Given the description of an element on the screen output the (x, y) to click on. 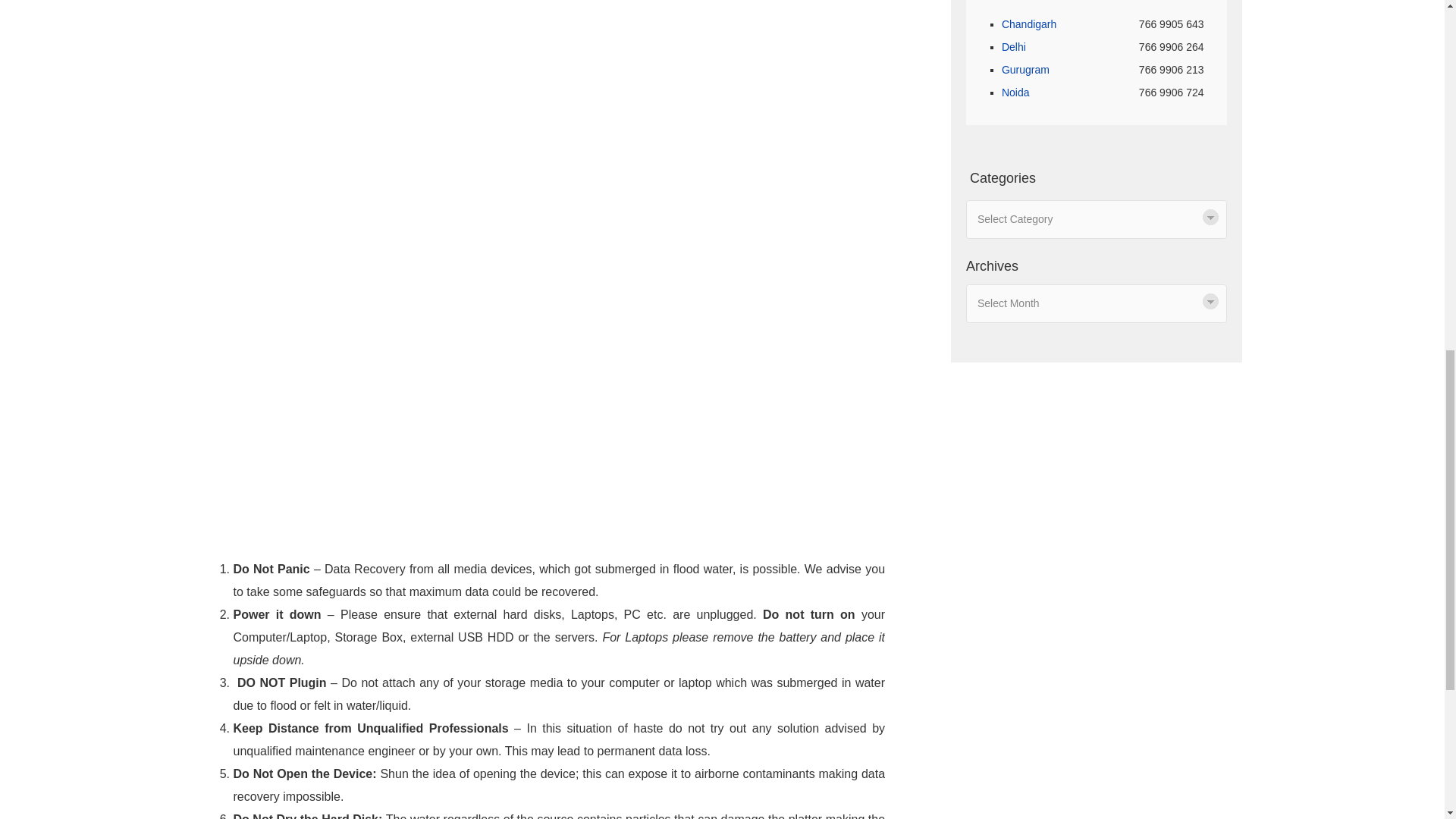
Chandigarh (1029, 24)
Gurugram (1025, 69)
Delhi (1013, 46)
